Given the description of an element on the screen output the (x, y) to click on. 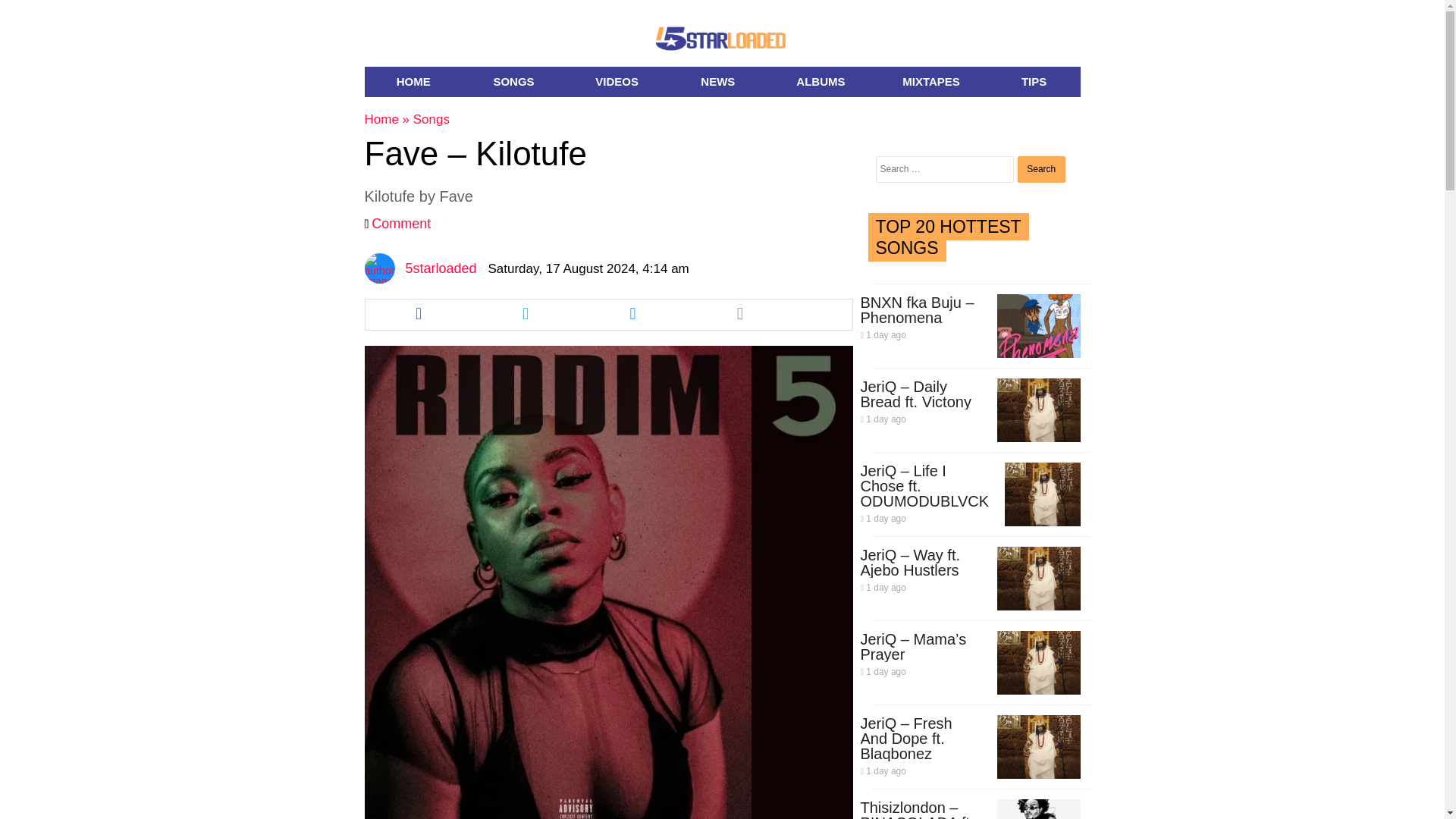
5starloaded (440, 268)
NEWS (717, 81)
Songs (513, 81)
Videos (616, 81)
VIDEOS (616, 81)
Share this article via facebook (418, 314)
Songs (431, 119)
Share this article via messenger (632, 314)
Home (380, 119)
Posts by 5starloaded (440, 268)
